Given the description of an element on the screen output the (x, y) to click on. 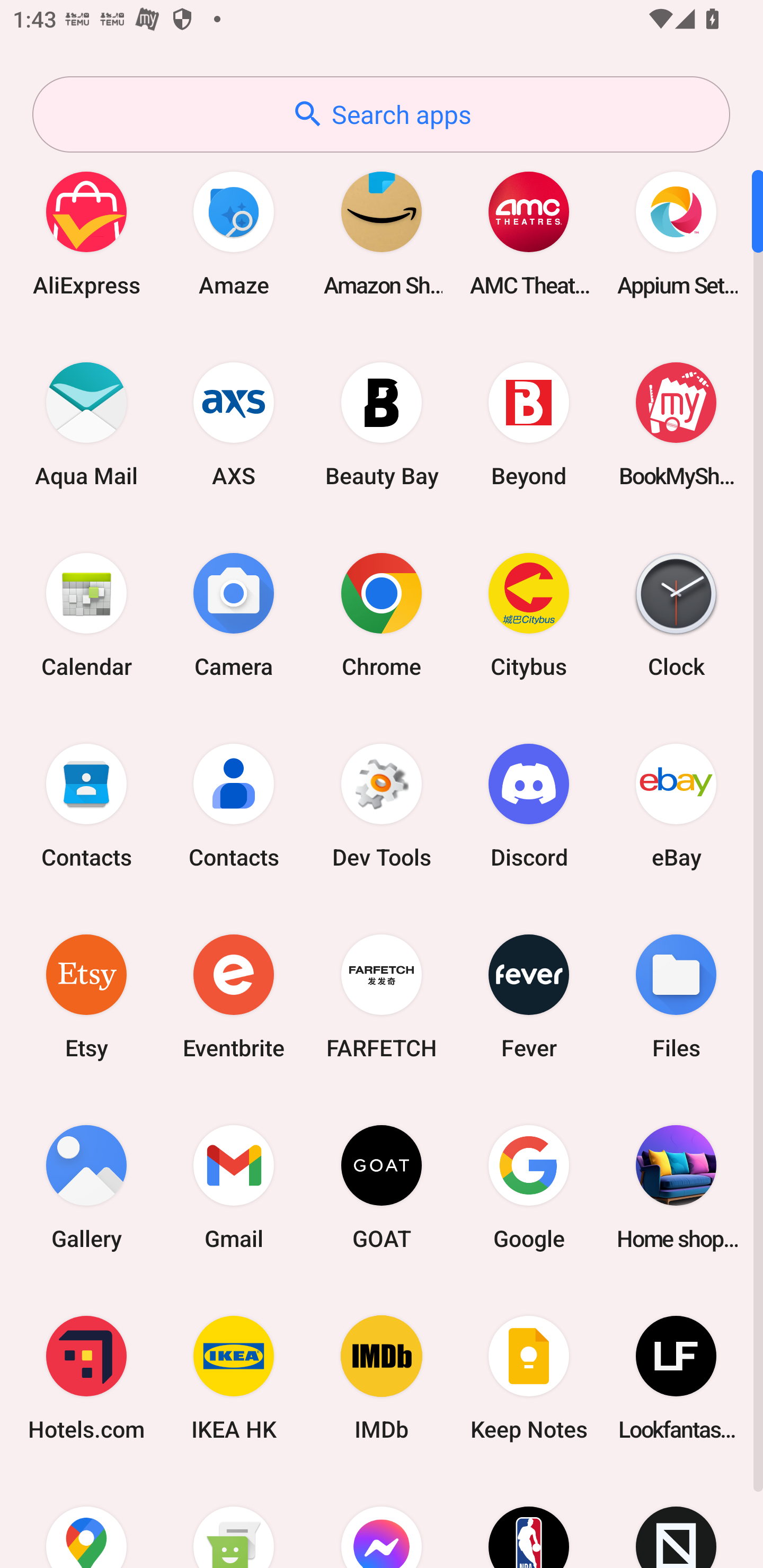
  Search apps (381, 114)
AliExpress (86, 233)
Amaze (233, 233)
Amazon Shopping (381, 233)
AMC Theatres (528, 233)
Appium Settings (676, 233)
Aqua Mail (86, 424)
AXS (233, 424)
Beauty Bay (381, 424)
Beyond (528, 424)
BookMyShow (676, 424)
Calendar (86, 614)
Camera (233, 614)
Chrome (381, 614)
Citybus (528, 614)
Clock (676, 614)
Contacts (86, 805)
Contacts (233, 805)
Dev Tools (381, 805)
Discord (528, 805)
eBay (676, 805)
Etsy (86, 996)
Eventbrite (233, 996)
FARFETCH (381, 996)
Fever (528, 996)
Files (676, 996)
Gallery (86, 1186)
Gmail (233, 1186)
GOAT (381, 1186)
Google (528, 1186)
Home shopping (676, 1186)
Hotels.com (86, 1377)
IKEA HK (233, 1377)
IMDb (381, 1377)
Keep Notes (528, 1377)
Lookfantastic (676, 1377)
